Given the description of an element on the screen output the (x, y) to click on. 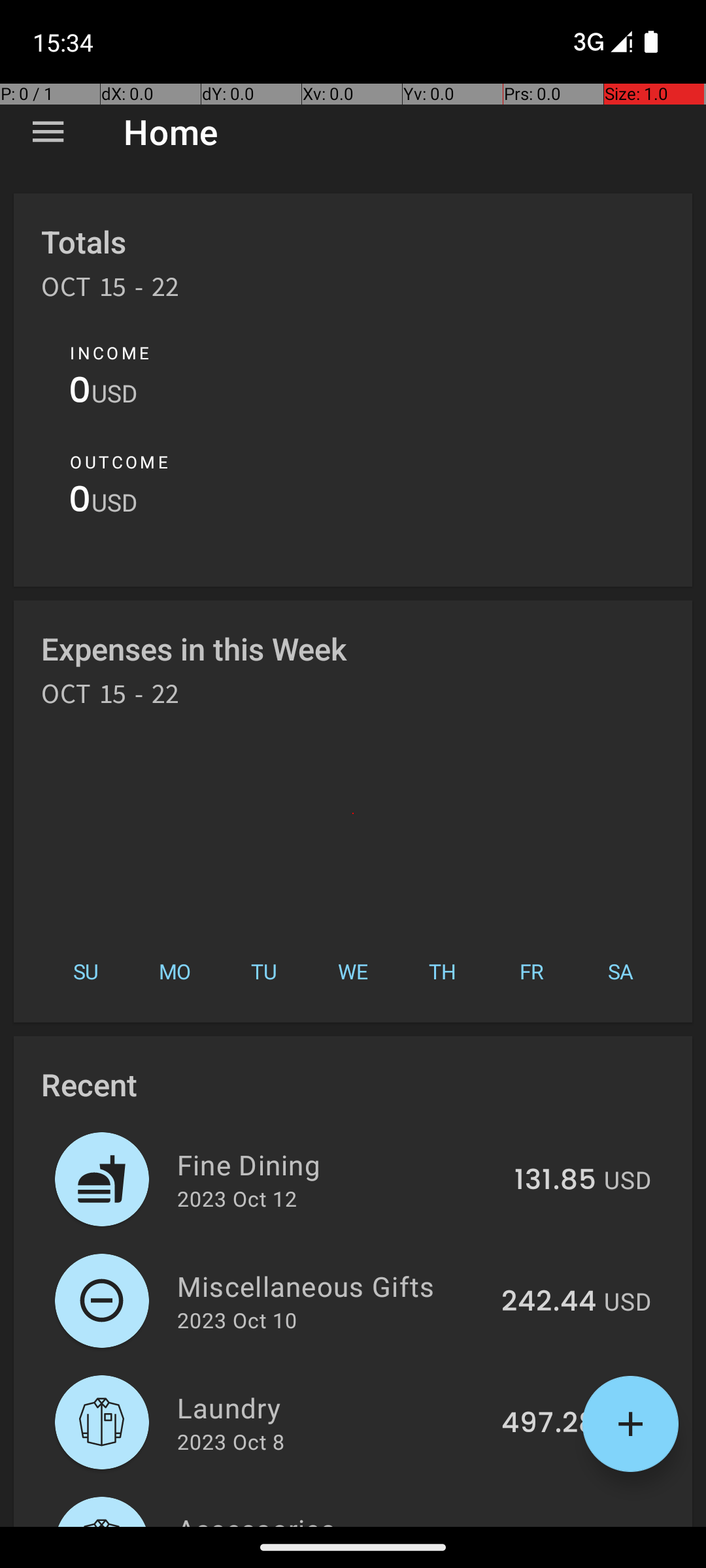
Fine Dining Element type: android.widget.TextView (338, 1164)
131.85 Element type: android.widget.TextView (554, 1180)
Miscellaneous Gifts Element type: android.widget.TextView (331, 1285)
2023 Oct 10 Element type: android.widget.TextView (236, 1320)
242.44 Element type: android.widget.TextView (548, 1301)
Laundry Element type: android.widget.TextView (331, 1407)
2023 Oct 8 Element type: android.widget.TextView (230, 1441)
497.28 Element type: android.widget.TextView (548, 1423)
Accessories Element type: android.widget.TextView (332, 1518)
233.62 Element type: android.widget.TextView (549, 1524)
